Given the description of an element on the screen output the (x, y) to click on. 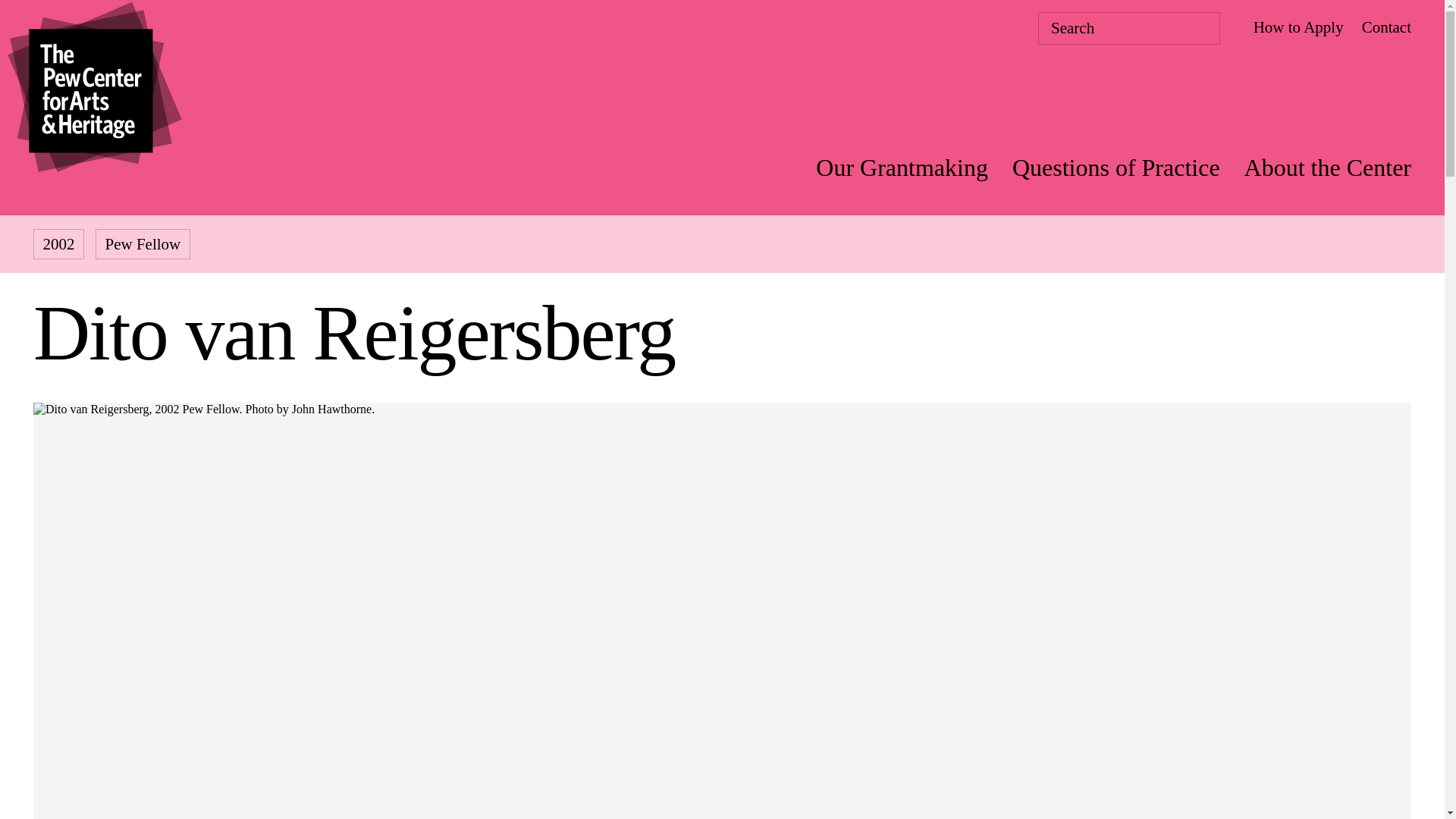
Questions of Practice (1115, 166)
How to Apply (1298, 27)
2002 (58, 244)
About the Center (1327, 166)
About the Center (1327, 166)
Our Grantmaking (901, 166)
Pew Fellow (143, 244)
Questions of Practice (1115, 166)
Our Grantmaking (901, 166)
Contact (1385, 27)
